Given the description of an element on the screen output the (x, y) to click on. 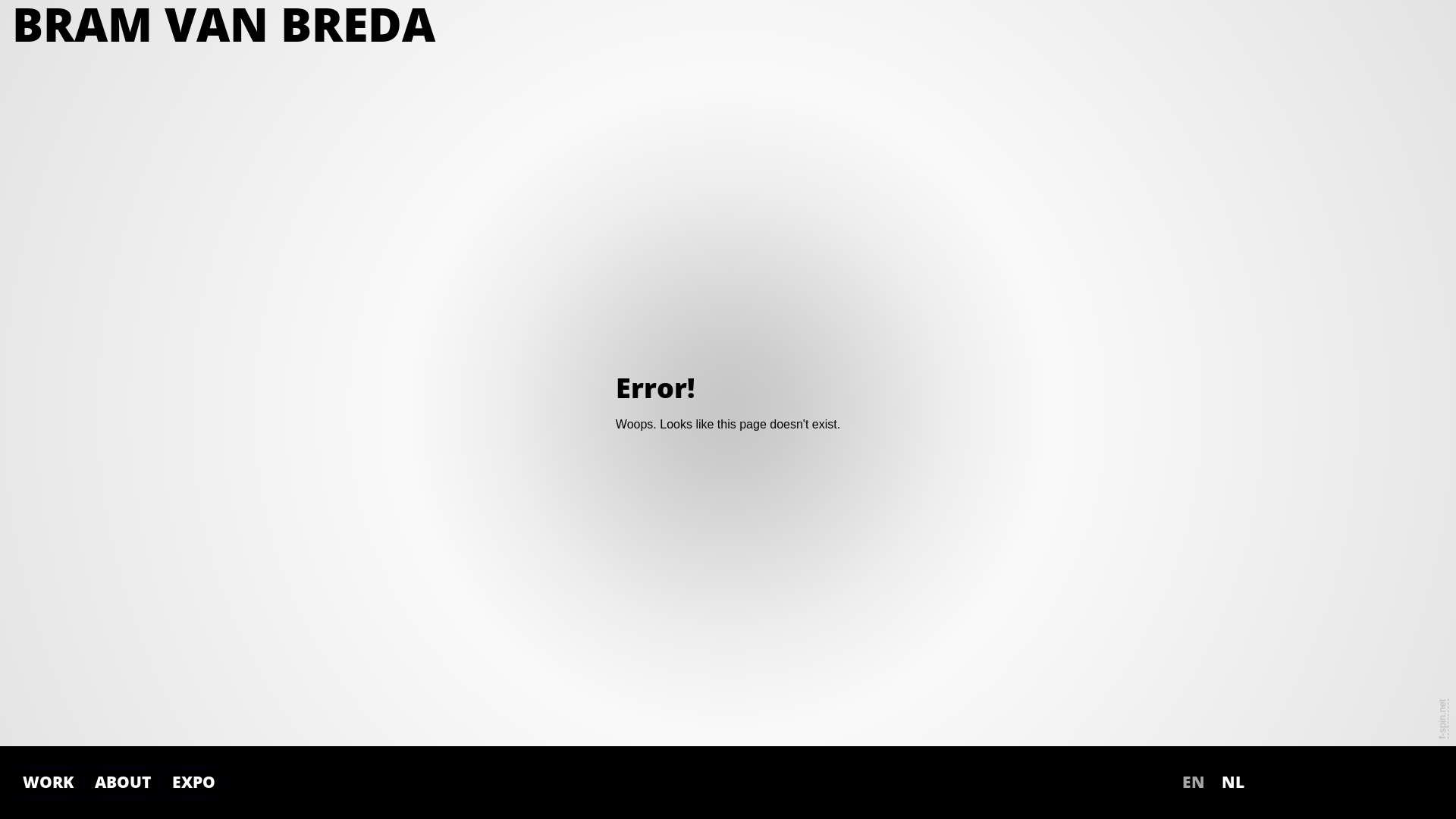
EN
ENGLISH Element type: text (1193, 782)
ABOUT Element type: text (122, 781)
NL
NEDERLANDS Element type: text (1232, 782)
WORK Element type: text (47, 781)
EXPO Element type: text (193, 781)
